Given the description of an element on the screen output the (x, y) to click on. 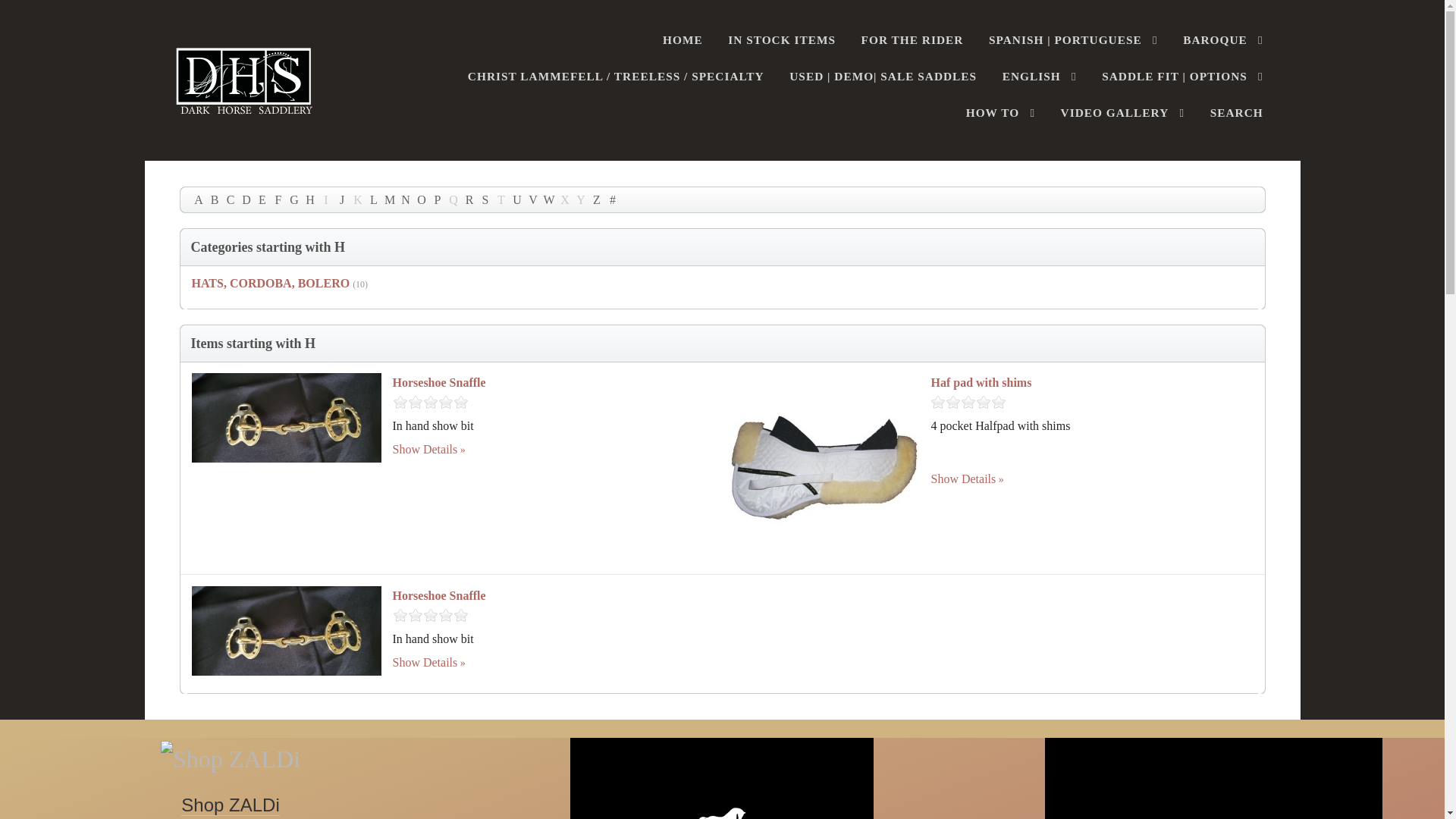
j (341, 199)
H (309, 199)
HOME (681, 43)
o (421, 199)
m (389, 199)
f (277, 199)
J (341, 199)
C (230, 199)
a (198, 199)
BAROQUE (1223, 43)
h (309, 199)
b (214, 199)
s (485, 199)
l (373, 199)
B (214, 199)
